Given the description of an element on the screen output the (x, y) to click on. 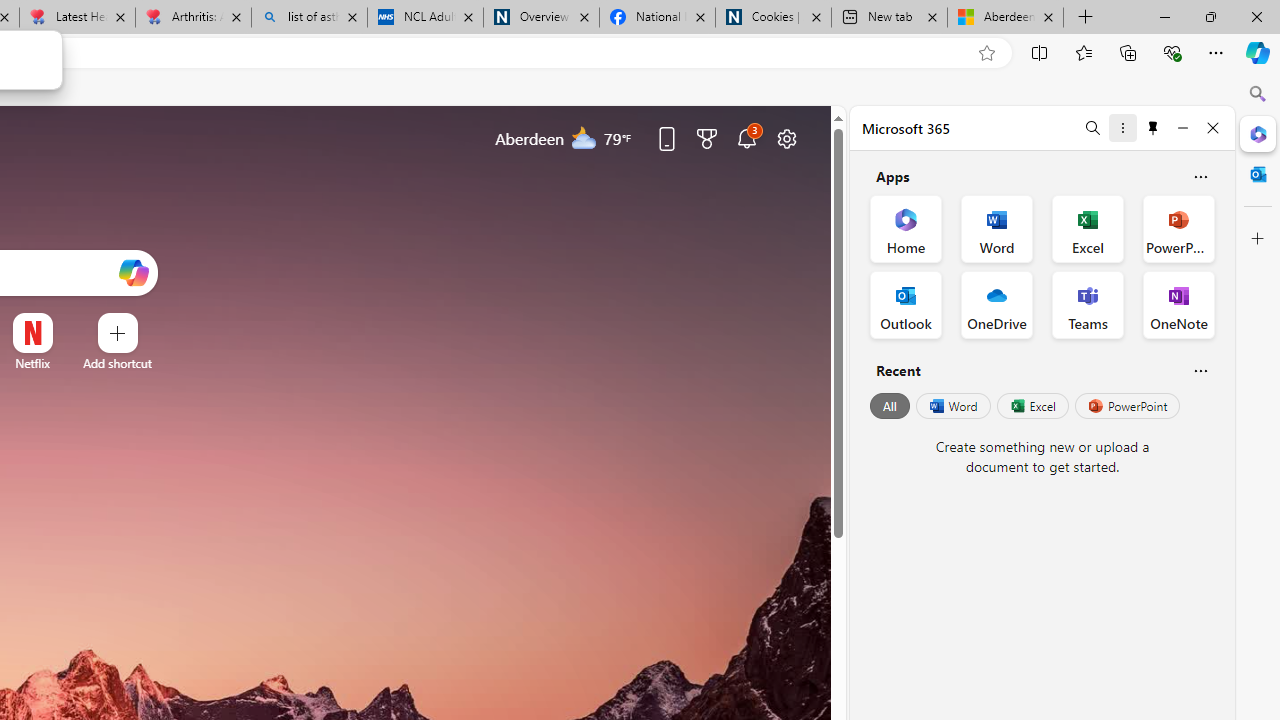
Outlook Office App (906, 304)
Unpin side pane (1153, 127)
Excel Office App (1087, 228)
